Given the description of an element on the screen output the (x, y) to click on. 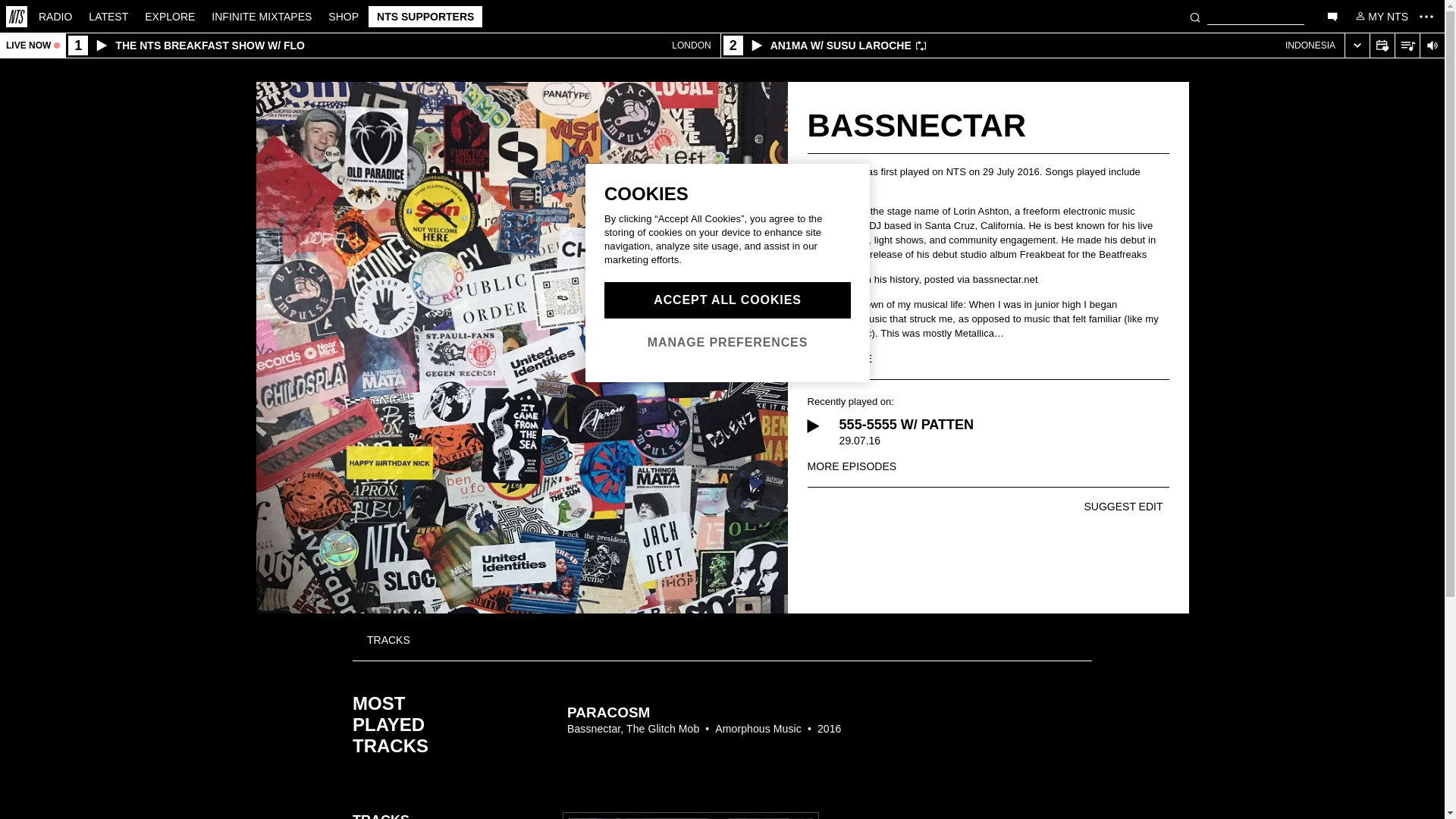
RADIO (55, 15)
EXPLORE (169, 15)
SHOP (343, 15)
LATEST (108, 15)
Toggle navigation menu (1425, 16)
INFINITE MIXTAPES (261, 15)
NTS SUPPORTERS (424, 16)
MY NTS (1380, 15)
